Given the description of an element on the screen output the (x, y) to click on. 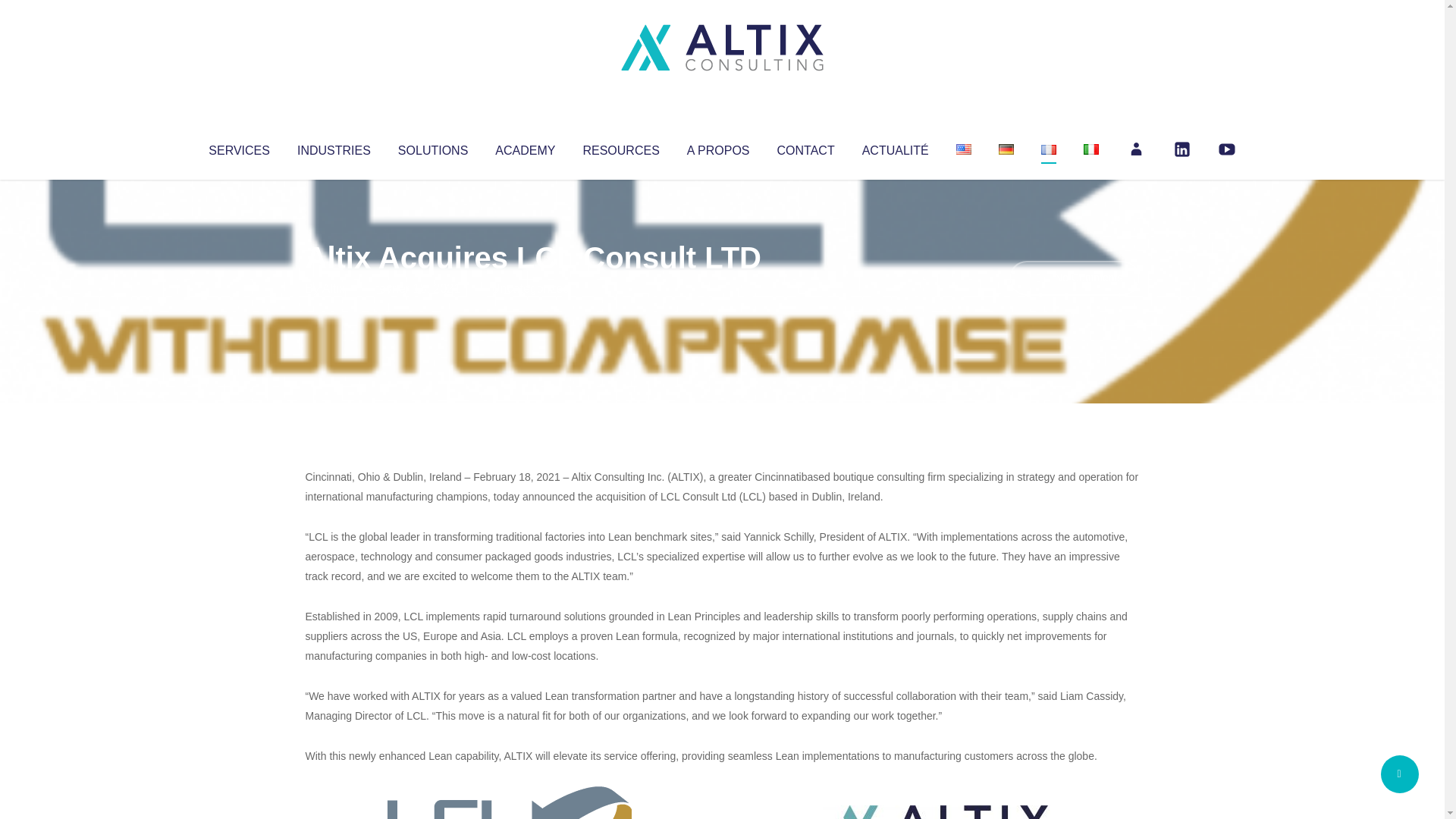
ACADEMY (524, 146)
INDUSTRIES (334, 146)
SERVICES (238, 146)
Uncategorized (530, 287)
No Comments (1073, 278)
A PROPOS (718, 146)
SOLUTIONS (432, 146)
Articles par Altix (333, 287)
Altix (333, 287)
RESOURCES (620, 146)
